Given the description of an element on the screen output the (x, y) to click on. 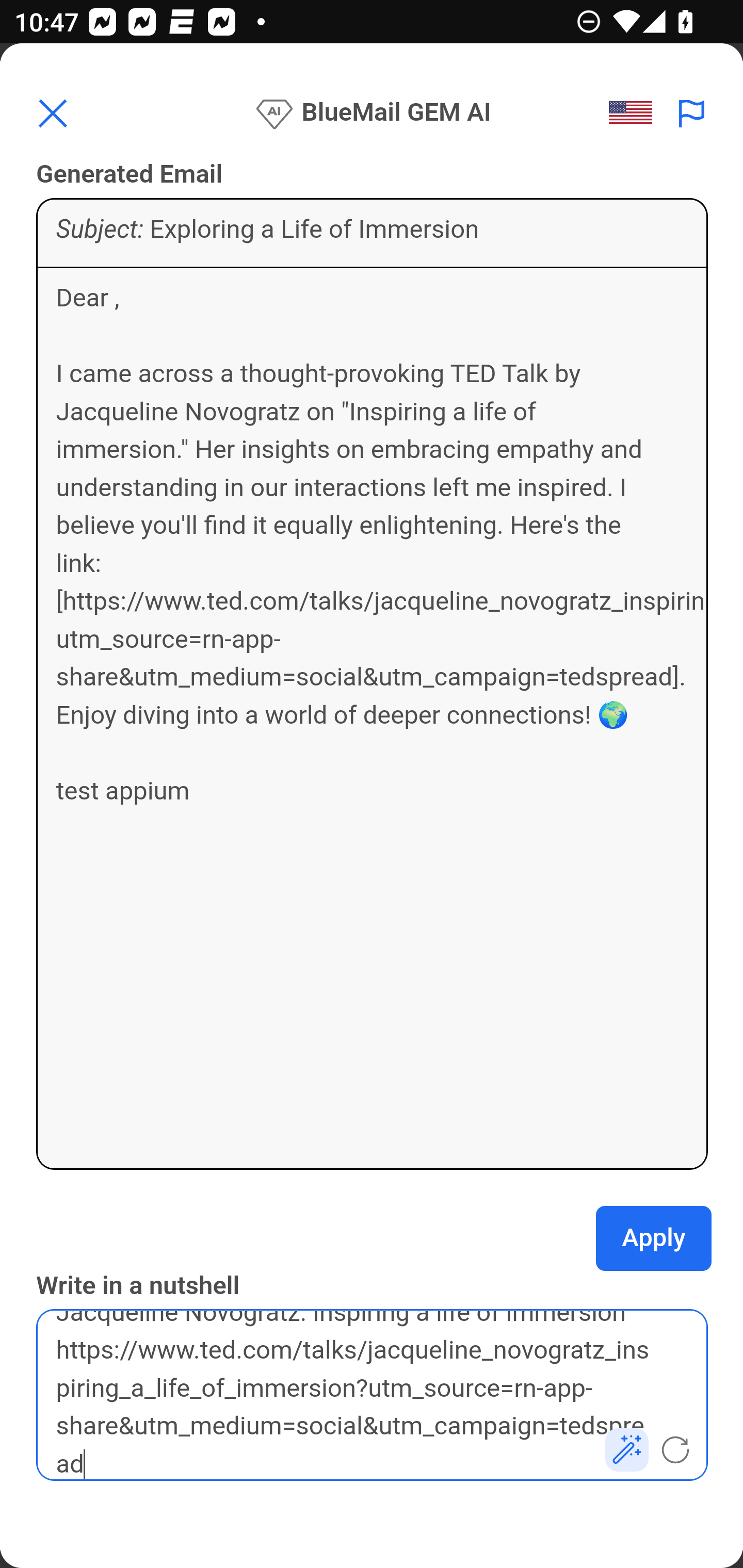
svg%3e (636, 113)
Report (692, 113)
Apply (654, 1237)
